Given the description of an element on the screen output the (x, y) to click on. 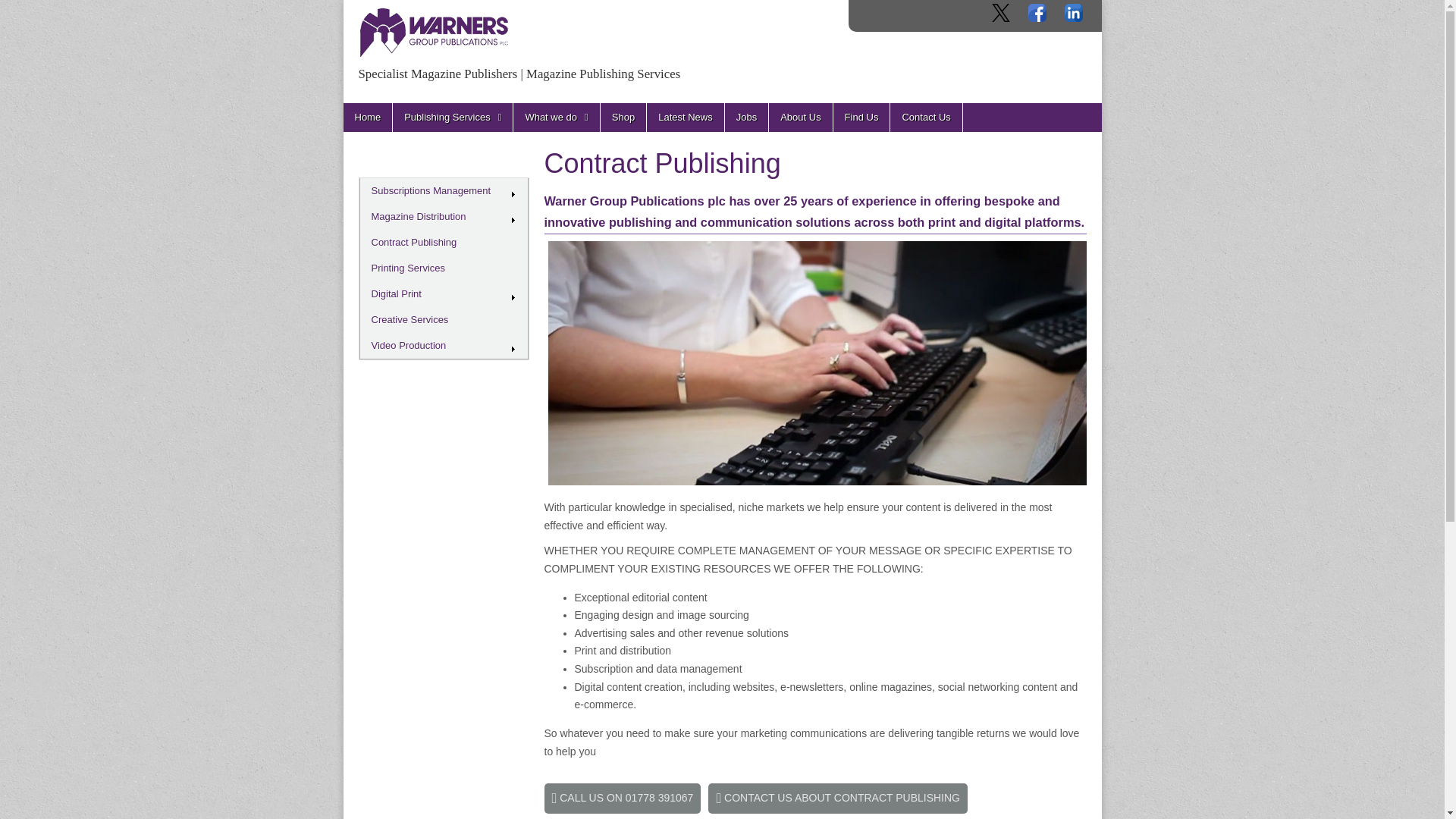
Warners Group Publications Plc (615, 108)
Latest News (684, 117)
Warners Group Publications Plc (433, 33)
Contact Us (924, 117)
Warners Group Publications Plc (615, 108)
Jobs (746, 117)
Shop (622, 117)
Subscriptions Management (443, 190)
About Us (799, 117)
What we do (555, 117)
Home (366, 117)
Find Us (860, 117)
Publishing Services (452, 117)
